Given the description of an element on the screen output the (x, y) to click on. 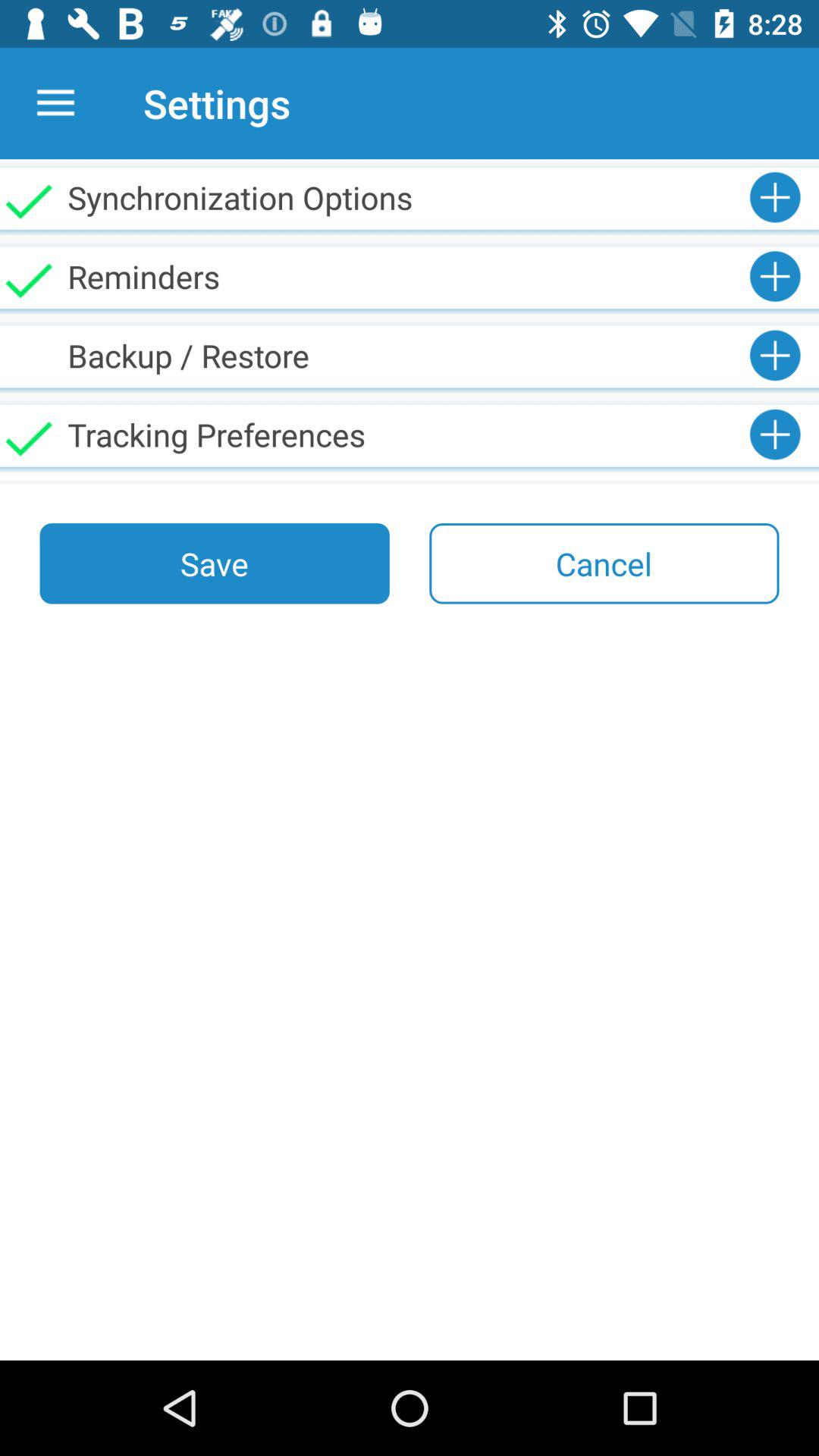
swipe until save icon (214, 563)
